Given the description of an element on the screen output the (x, y) to click on. 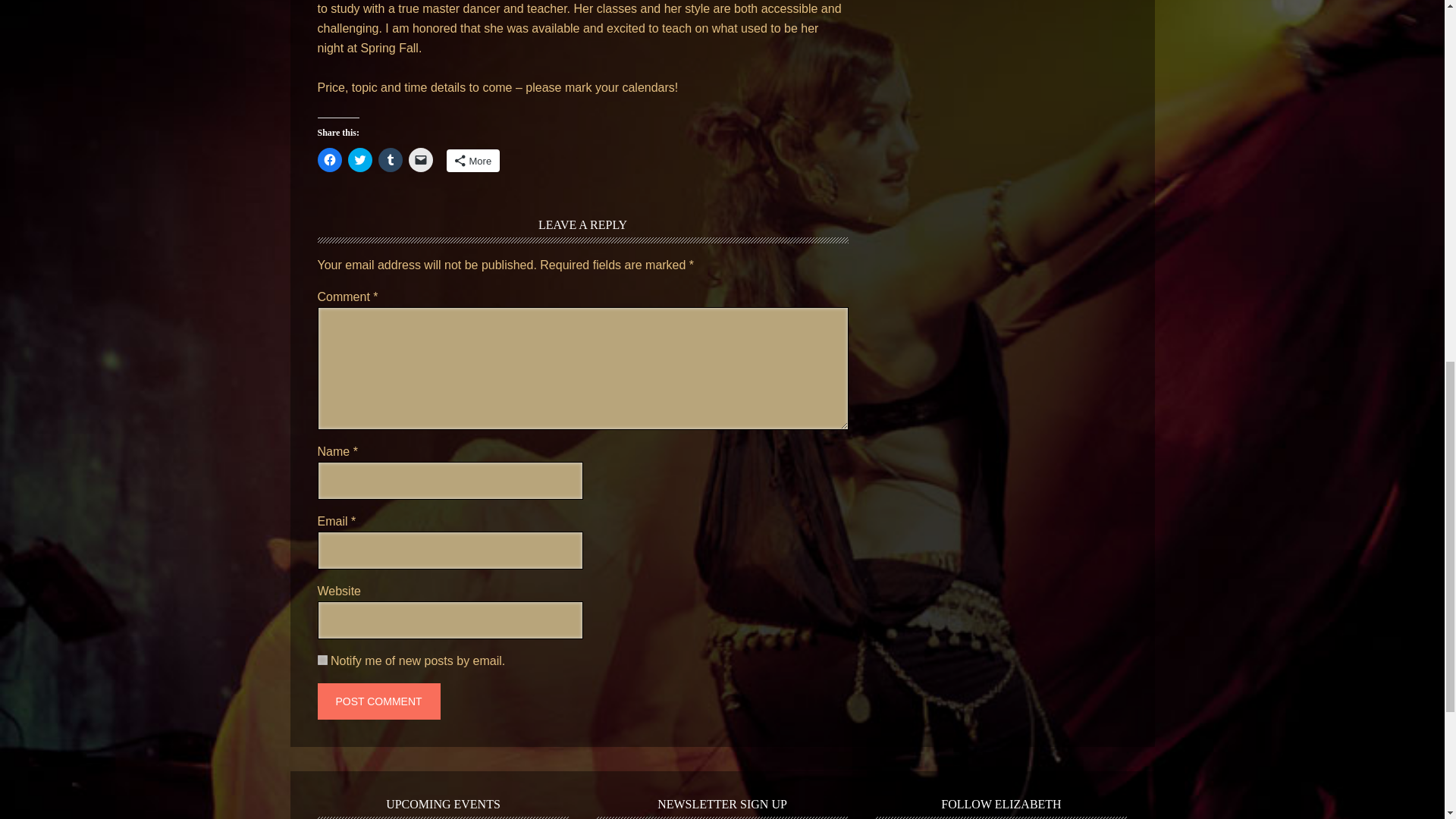
More (472, 160)
Post Comment (378, 701)
Click to share on Twitter (359, 159)
Click to share on Facebook (328, 159)
subscribe (321, 660)
Click to share on Tumblr (389, 159)
Click to email a link to a friend (419, 159)
Post Comment (378, 701)
